Given the description of an element on the screen output the (x, y) to click on. 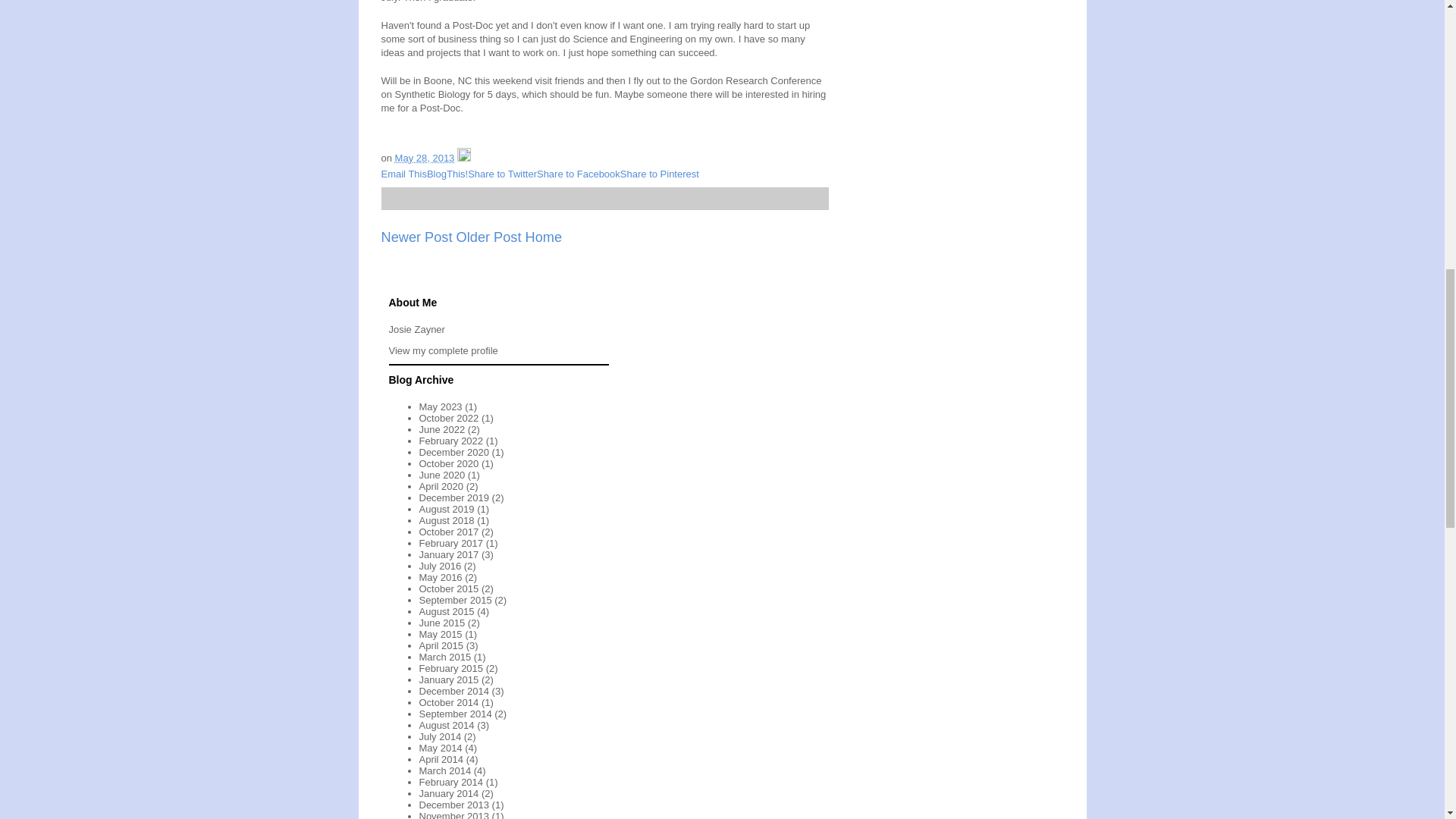
Older Post (489, 237)
permanent link (424, 157)
October 2020 (449, 463)
Home (543, 237)
May 28, 2013 (424, 157)
Share to Twitter (502, 173)
February 2022 (451, 440)
July 2016 (440, 565)
Share to Pinterest (659, 173)
Edit Post (463, 157)
October 2017 (449, 531)
June 2020 (441, 474)
January 2017 (449, 554)
September 2015 (455, 600)
Newer Post (415, 237)
